Given the description of an element on the screen output the (x, y) to click on. 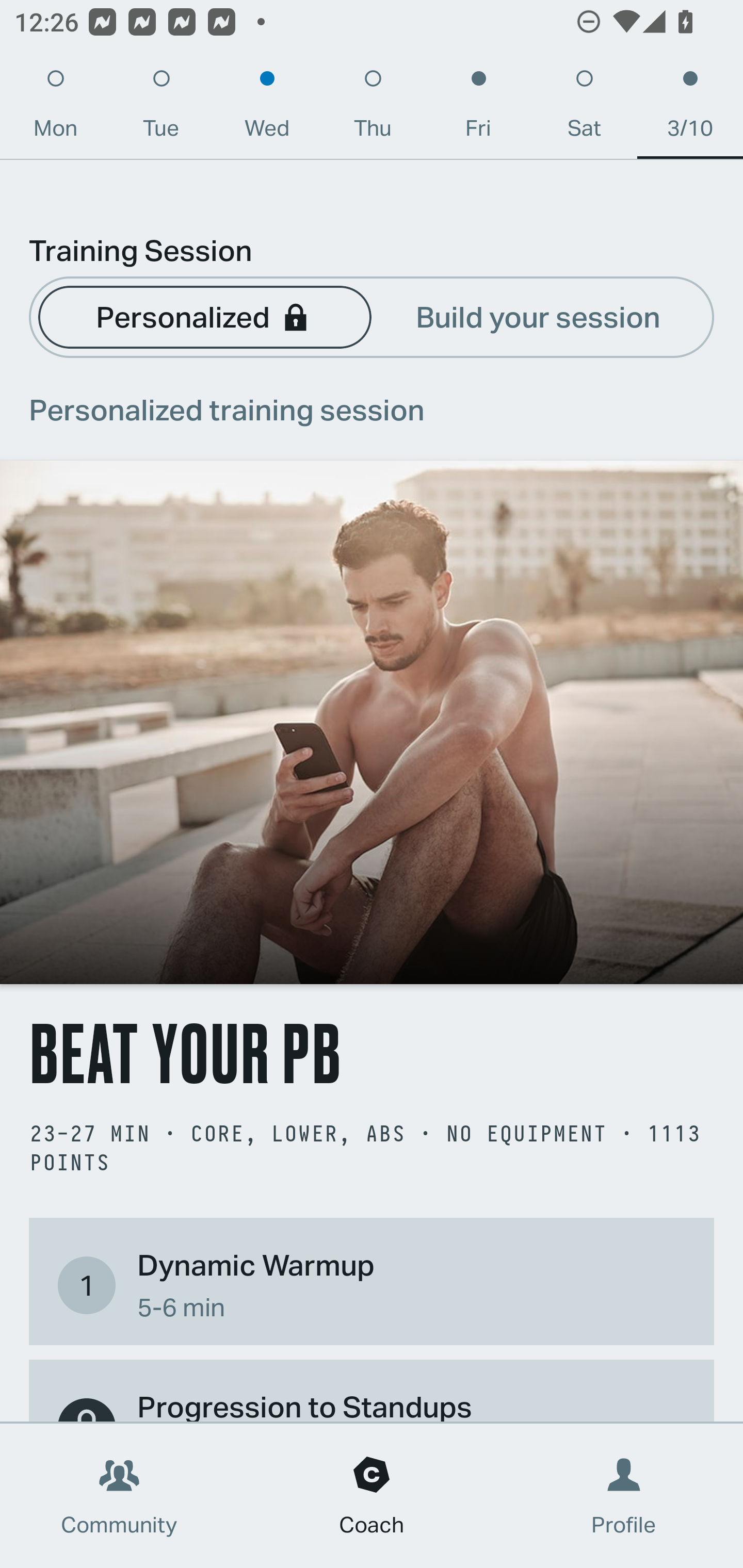
Mon (55, 108)
Tue (160, 108)
Wed (266, 108)
Thu (372, 108)
Fri (478, 108)
Sat (584, 108)
3/10 (690, 108)
Personalized (204, 315)
Build your session (538, 315)
1 Dynamic Warmup 5-6 min (371, 1284)
Community (119, 1495)
Profile (624, 1495)
